Given the description of an element on the screen output the (x, y) to click on. 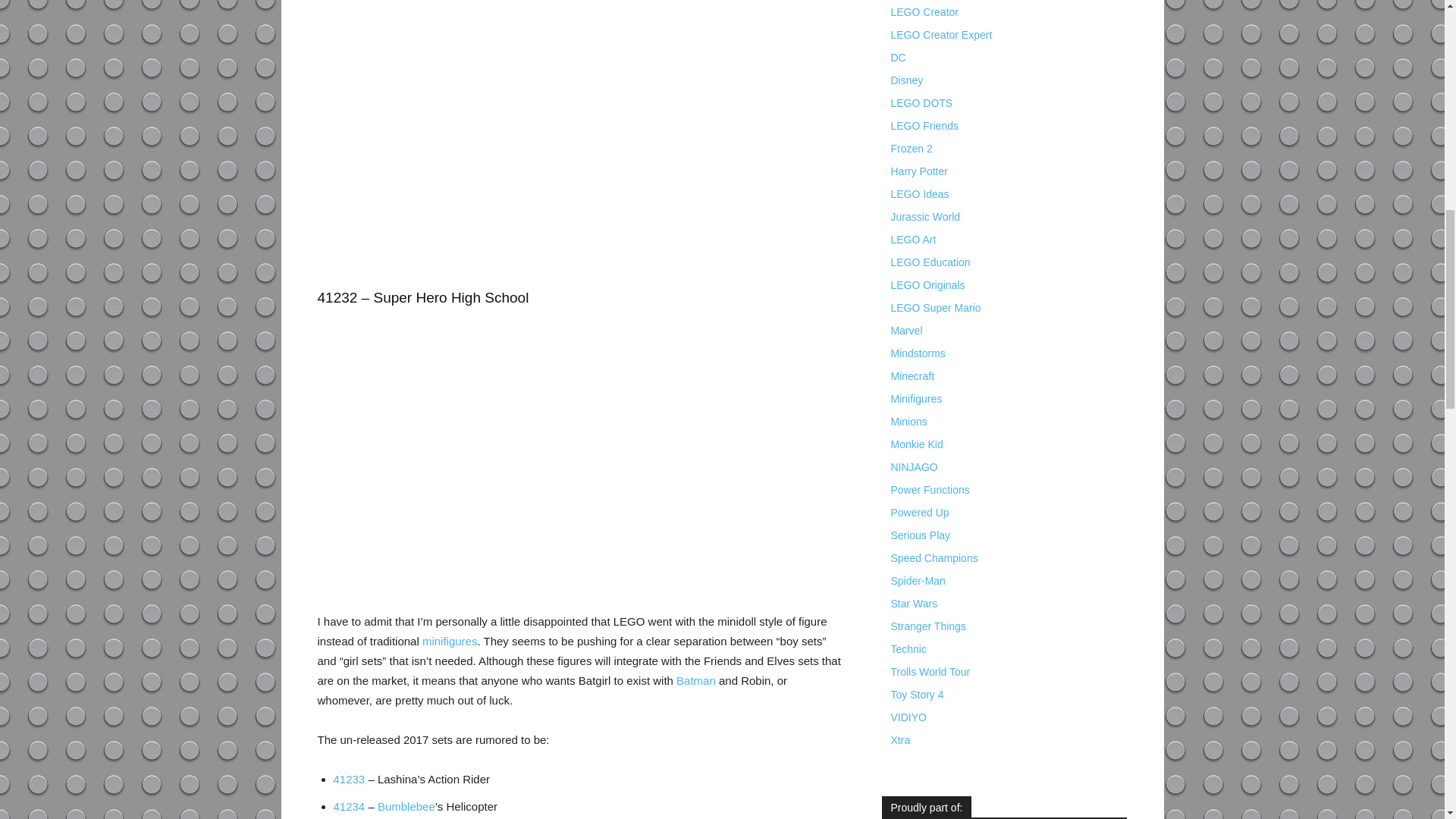
41233 (349, 779)
41234 (349, 806)
minifigures (449, 640)
Batman (696, 680)
Bumblebee (406, 806)
